Given the description of an element on the screen output the (x, y) to click on. 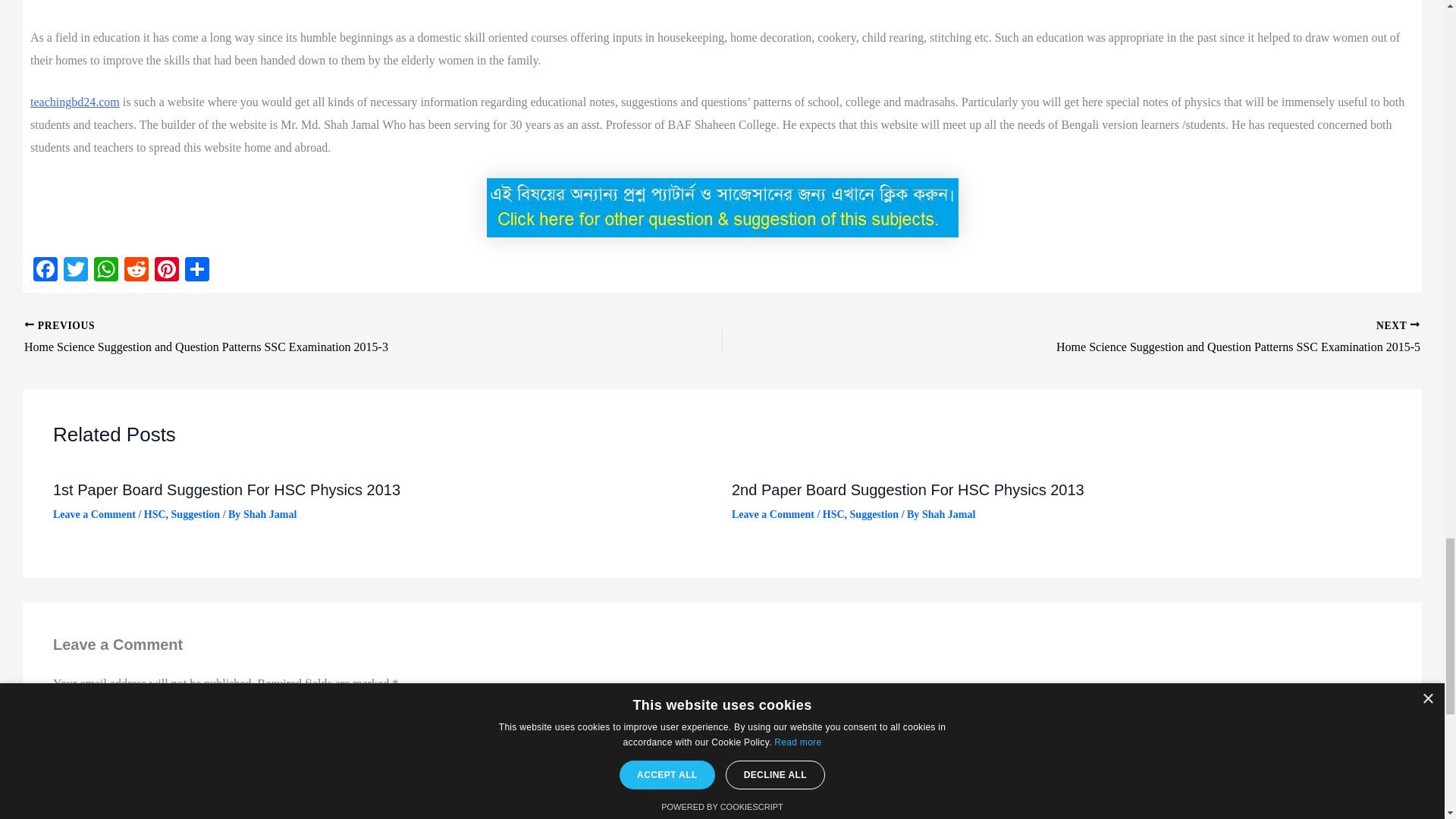
teachingbd24.com (74, 101)
View all posts by Shah Jamal (270, 514)
Twitter (75, 271)
Reddit (135, 271)
Facebook (45, 271)
Pinterest (166, 271)
WhatsApp (105, 271)
